Given the description of an element on the screen output the (x, y) to click on. 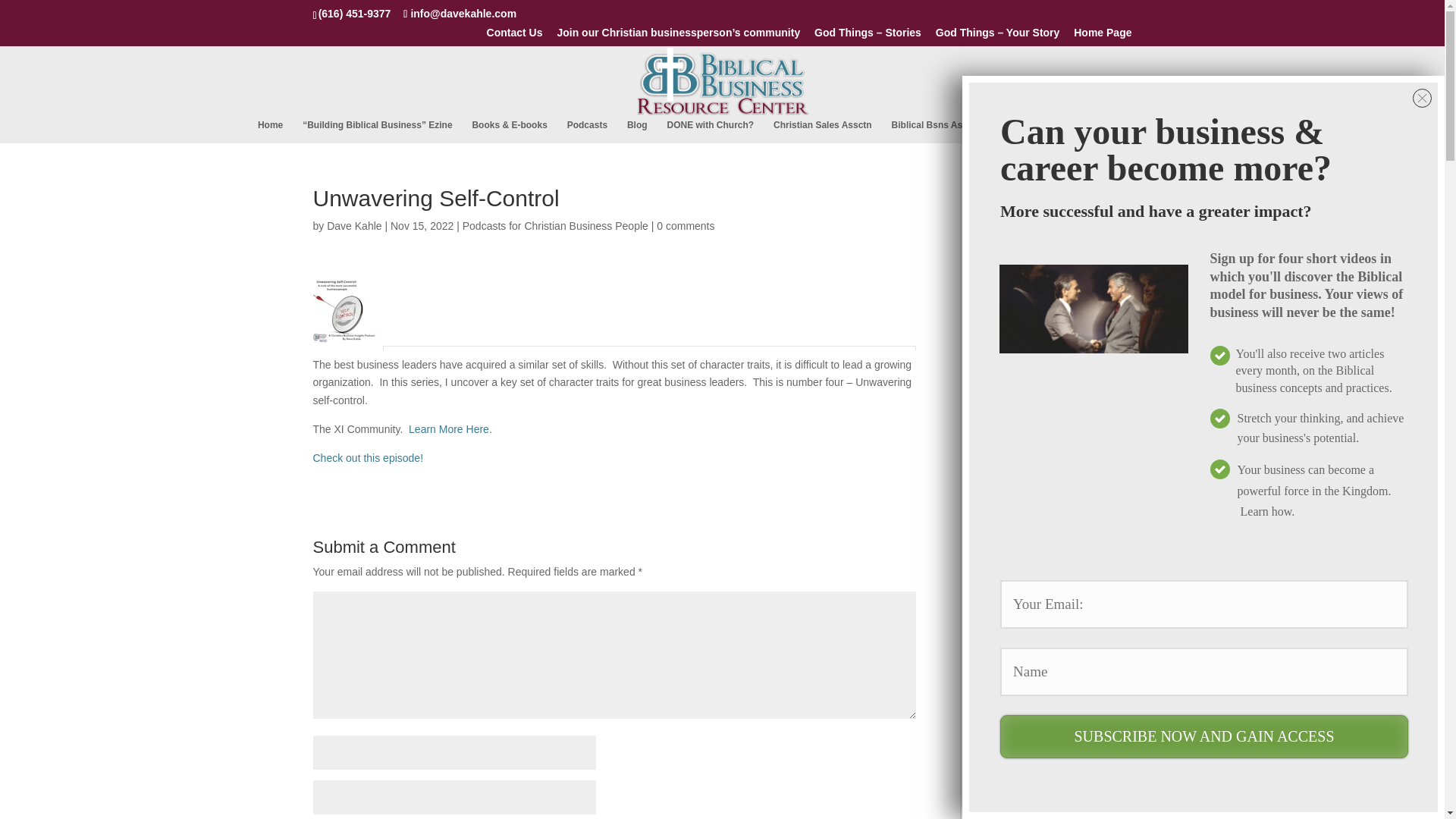
DONE with Church? (710, 131)
Search (1106, 202)
Home Page (1102, 36)
About Dave (1159, 131)
Podcasts (587, 131)
Podcasts for Christian Business People (555, 225)
Contact Us (514, 36)
0 comments (685, 225)
Learn More Here (449, 428)
Christian Sales Assctn (822, 131)
Search (1106, 202)
Dave Kahle (353, 225)
Biblical Bsns Course (1069, 131)
Posts by Dave Kahle (353, 225)
Home (269, 131)
